Given the description of an element on the screen output the (x, y) to click on. 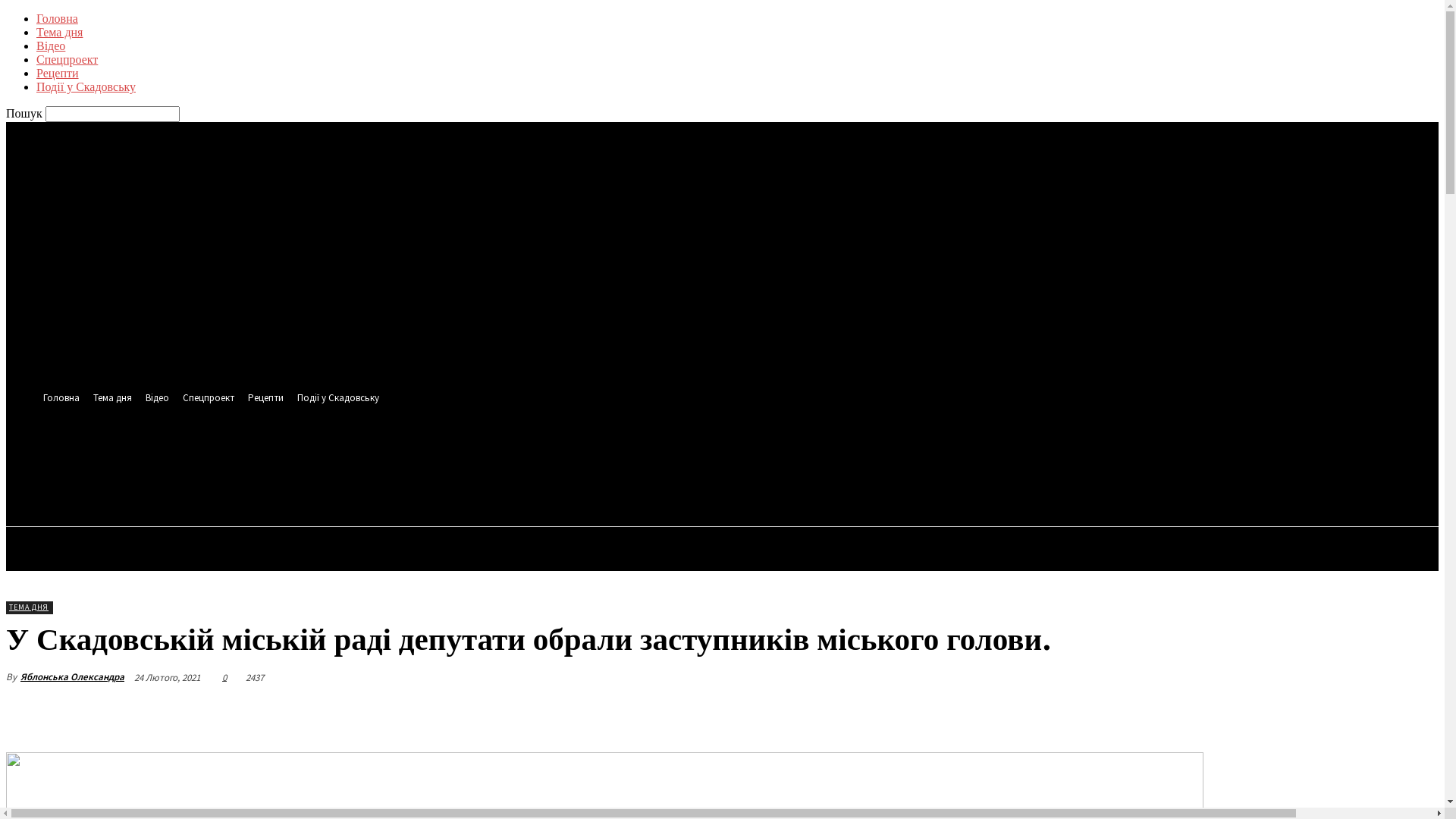
Youtube Element type: hover (319, 452)
0 Element type: text (222, 676)
Twitter Element type: hover (291, 452)
Facebook Element type: hover (263, 452)
